Given the description of an element on the screen output the (x, y) to click on. 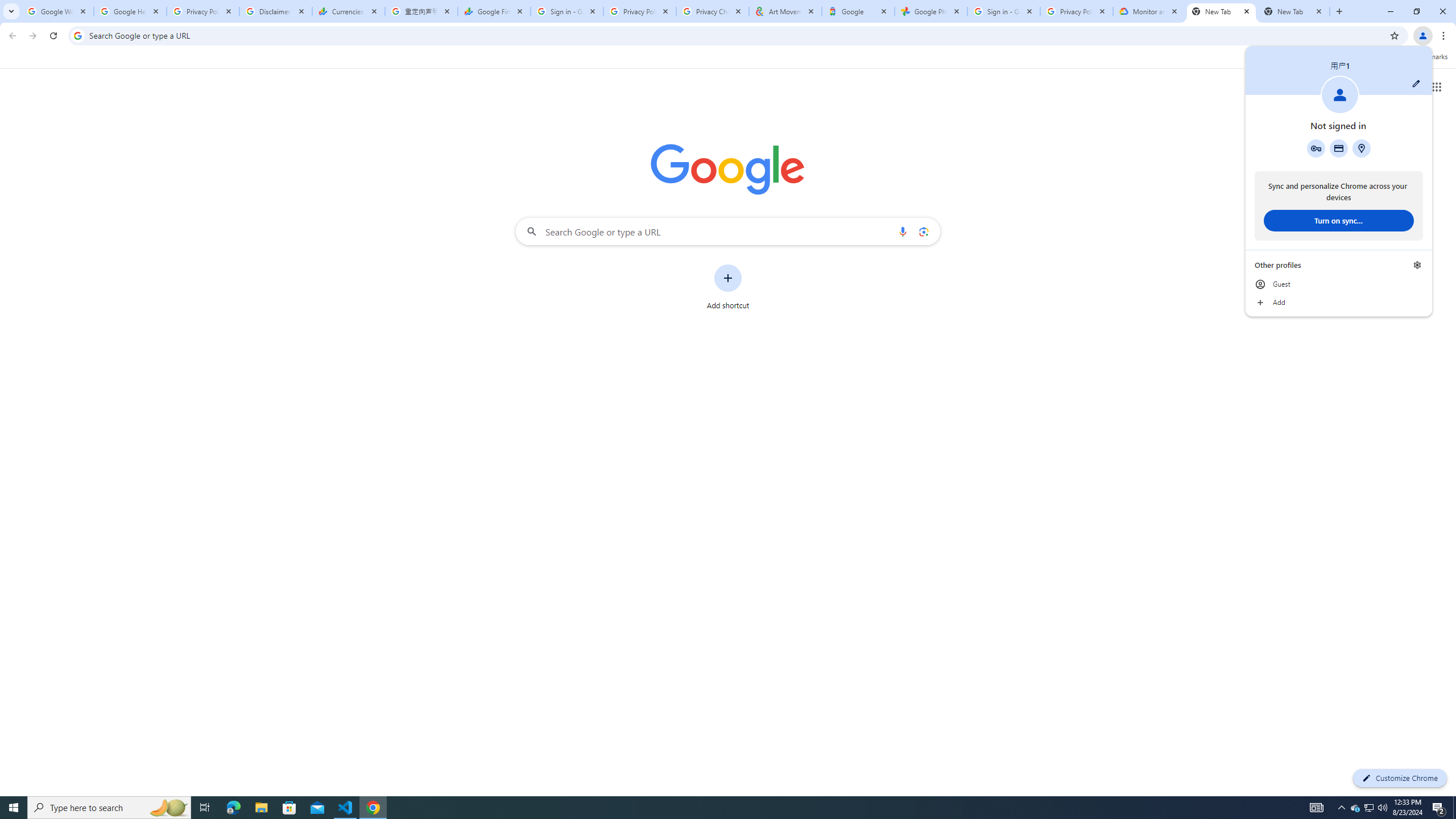
AutomationID: 4105 (1316, 807)
New Tab (1221, 11)
Manage profiles (1417, 265)
